Given the description of an element on the screen output the (x, y) to click on. 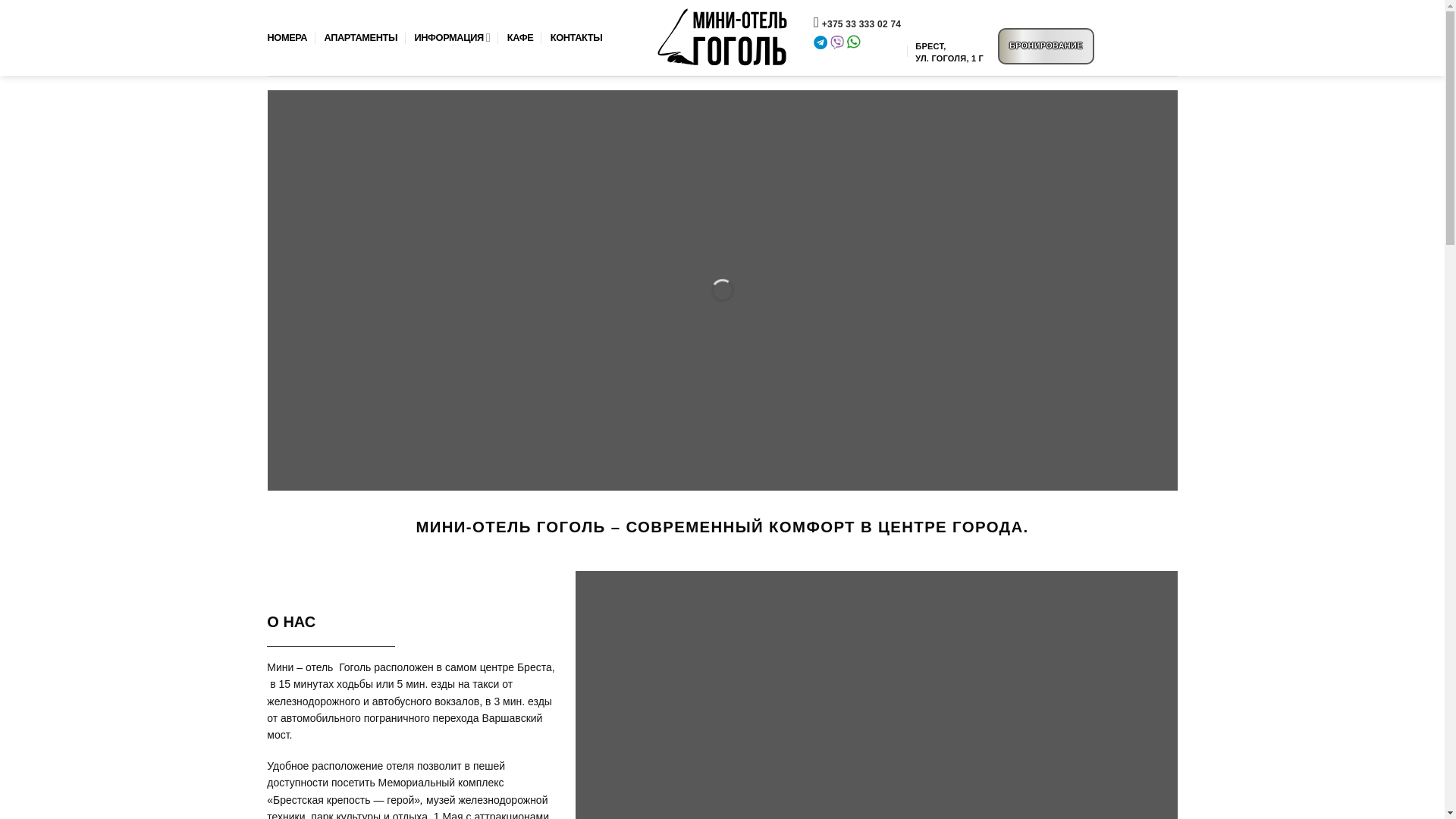
Skip to content Element type: text (0, 0)
+375 33 333 02 74 Element type: text (861, 24)
